Given the description of an element on the screen output the (x, y) to click on. 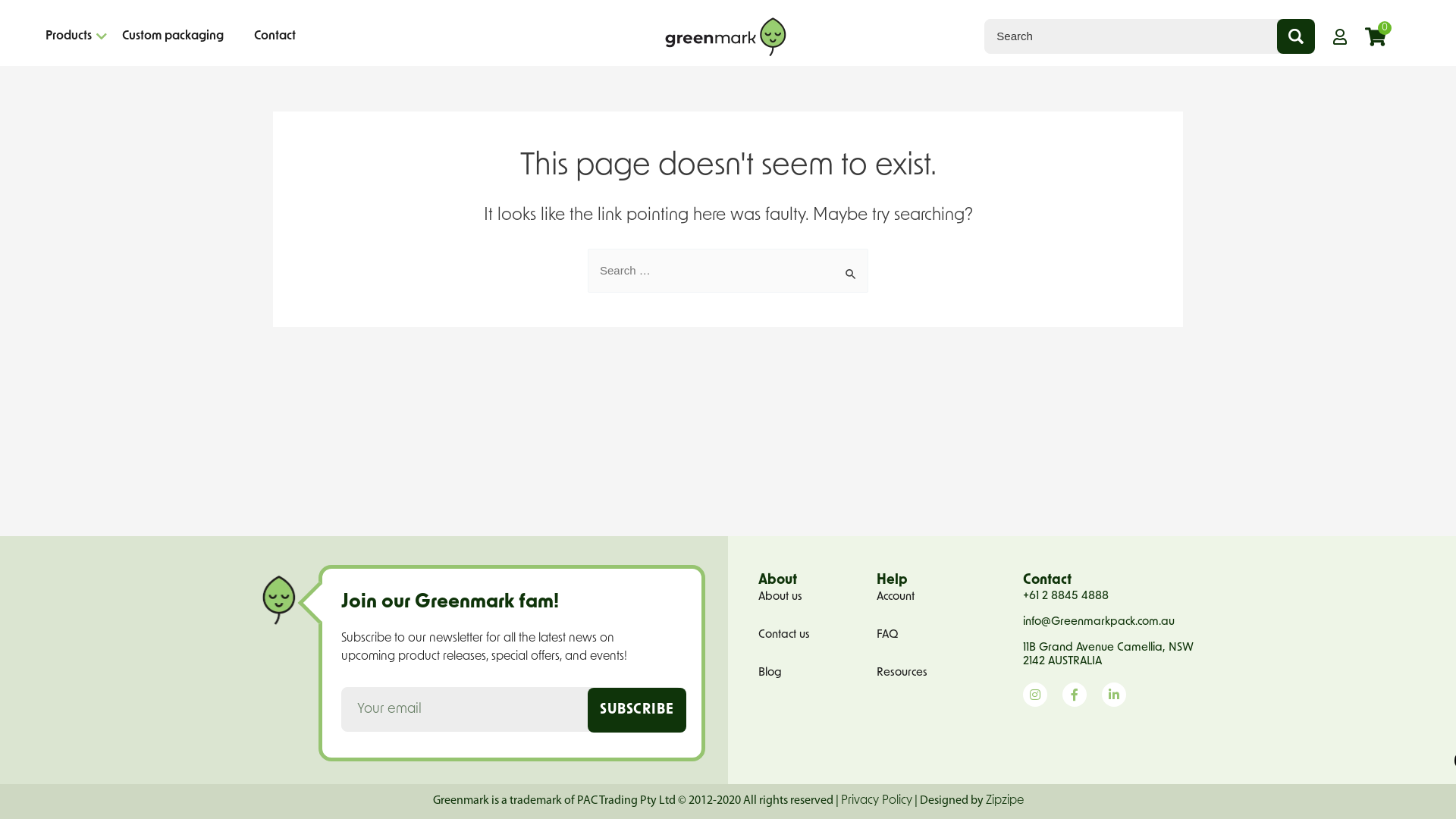
Resources Element type: text (941, 672)
Products Element type: text (68, 36)
FAQ Element type: text (941, 635)
SUBSCRIBE Element type: text (636, 709)
Contact us Element type: text (809, 635)
Custom packaging Element type: text (172, 36)
Account Element type: text (941, 597)
Contact Element type: text (274, 36)
info@Greenmarkpack.com.au Element type: text (1108, 622)
About us Element type: text (809, 597)
+61 2 8845 4888 Element type: text (1108, 596)
Privacy Policy Element type: text (875, 800)
Blog Element type: text (809, 672)
Zipzipe Element type: text (1004, 800)
Search Element type: text (851, 263)
